Given the description of an element on the screen output the (x, y) to click on. 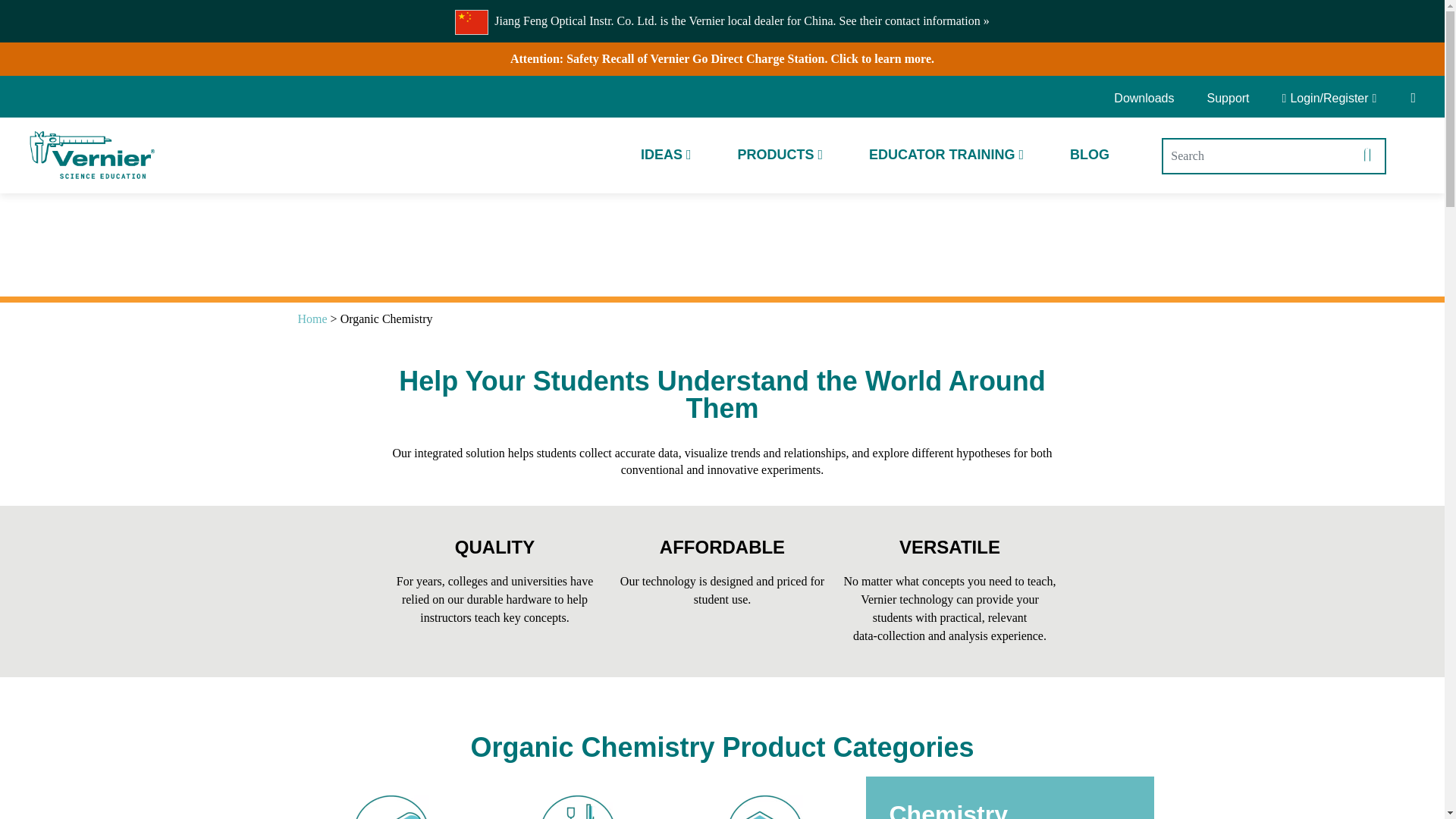
PRODUCTS (779, 154)
IDEAS (665, 154)
Support (1227, 98)
Downloads (1149, 98)
Vernier (90, 155)
